Given the description of an element on the screen output the (x, y) to click on. 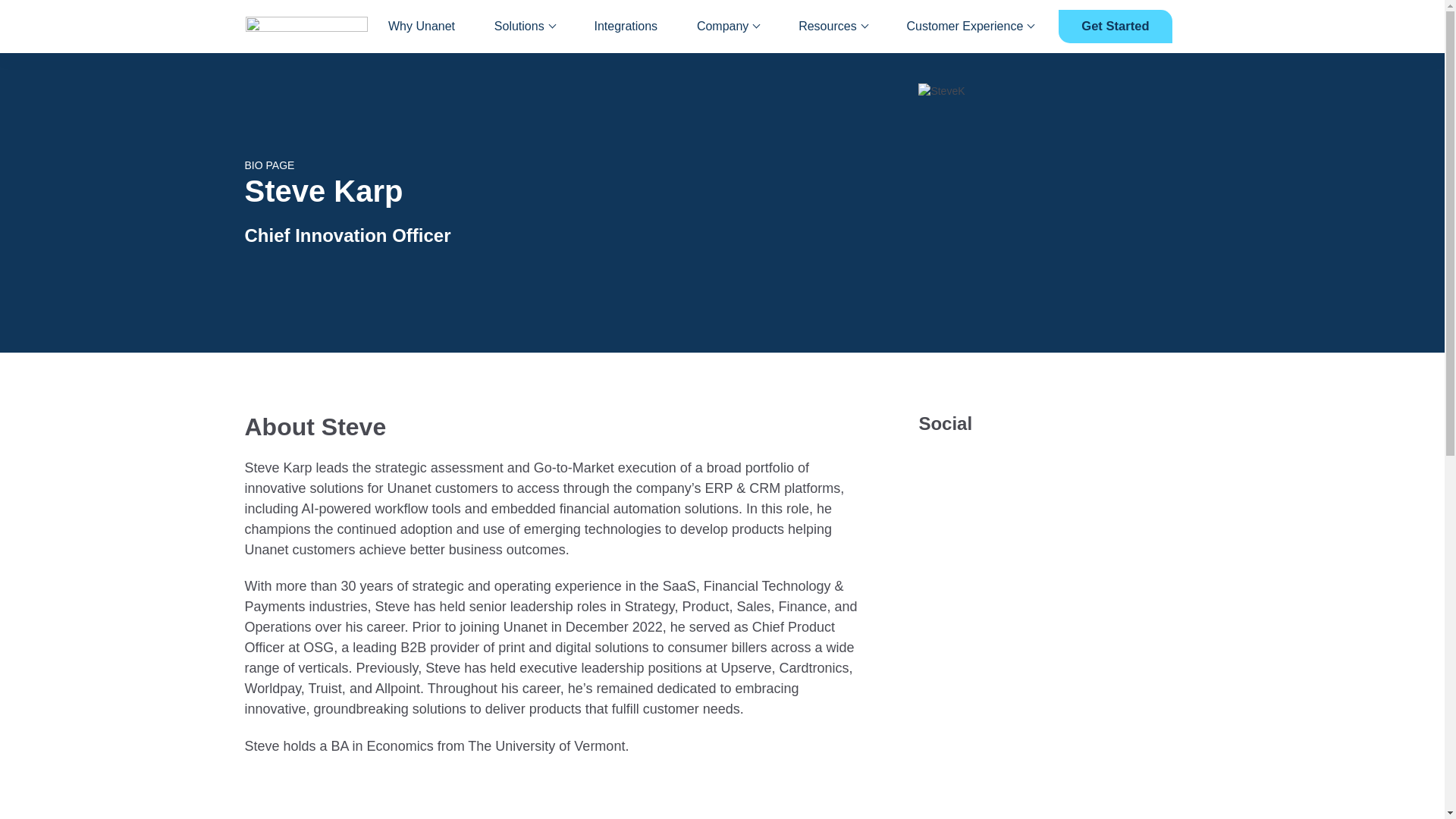
Integrations (626, 26)
Solutions (524, 26)
Company (727, 26)
Resources (831, 26)
Why Unanet (421, 26)
